Given the description of an element on the screen output the (x, y) to click on. 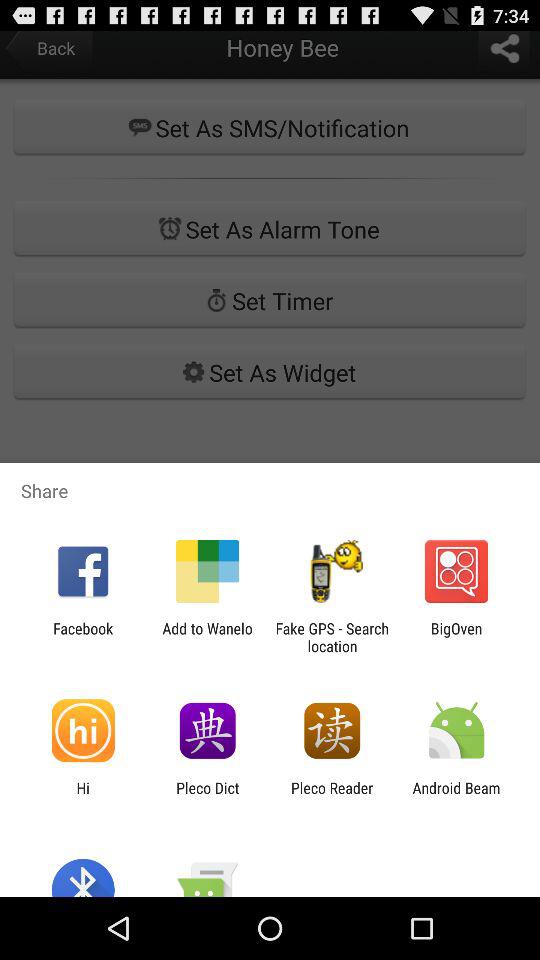
turn off icon to the left of the android beam (331, 796)
